Given the description of an element on the screen output the (x, y) to click on. 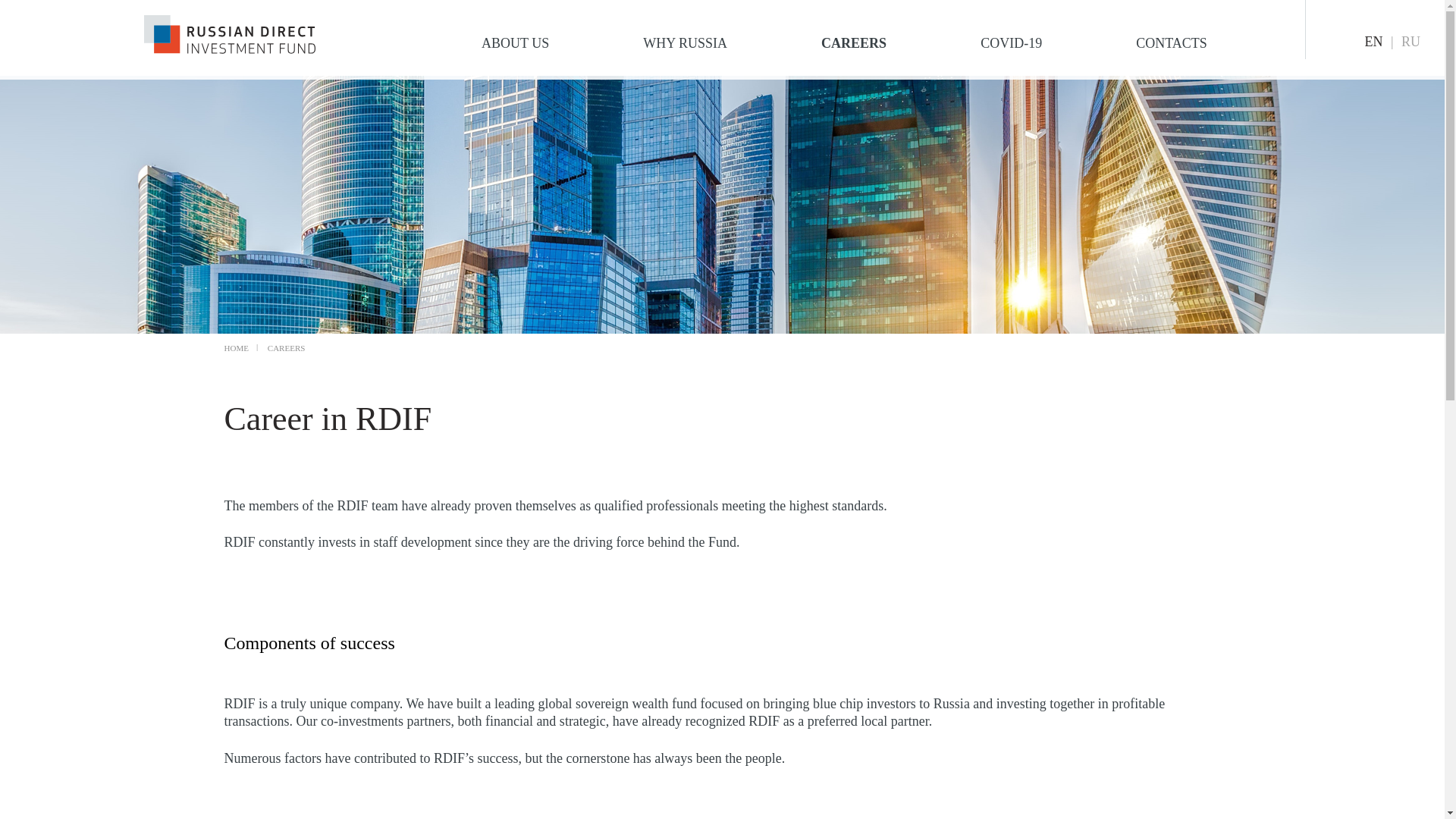
HOME (236, 347)
Why Russia (684, 43)
WHY RUSSIA (684, 43)
ABOUT US (514, 43)
CAREERS (853, 43)
COVID-19 (1010, 43)
EN (1374, 41)
Careers (853, 43)
RU (1410, 41)
CONTACTS (1171, 43)
